Given the description of an element on the screen output the (x, y) to click on. 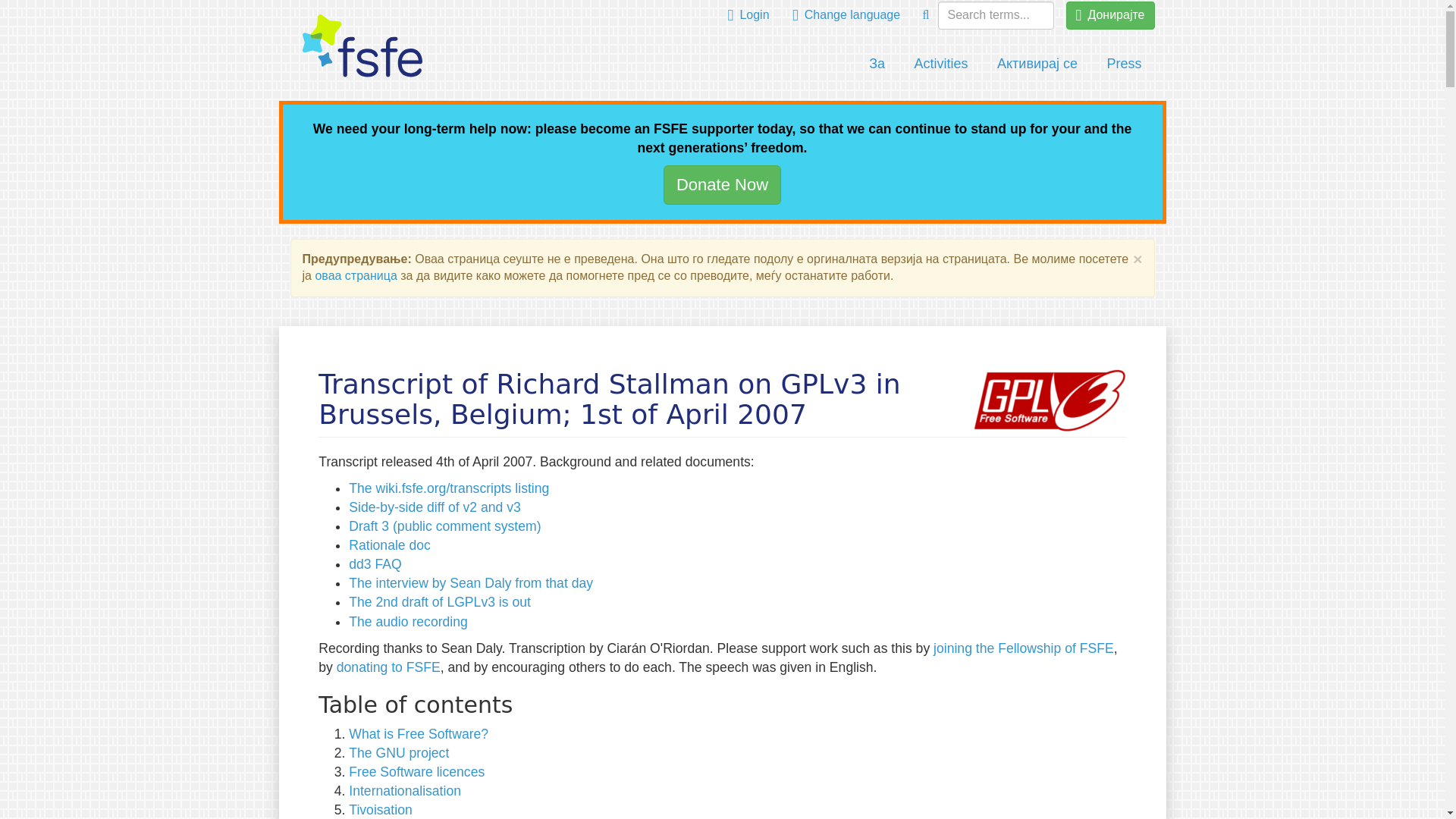
Activities (941, 63)
donating to FSFE (388, 667)
The interview by Sean Daly from that day (470, 582)
What is Free Software? (418, 734)
joining the Fellowship of FSFE (1023, 648)
The 2nd draft of LGPLv3 is out (440, 601)
Internationalisation (405, 790)
Rationale doc (389, 544)
The audio recording (408, 621)
Press (1123, 63)
Donate Now (721, 184)
dd3 FAQ (375, 563)
Free Software licences (416, 771)
The GNU project (398, 752)
Login (747, 15)
